Given the description of an element on the screen output the (x, y) to click on. 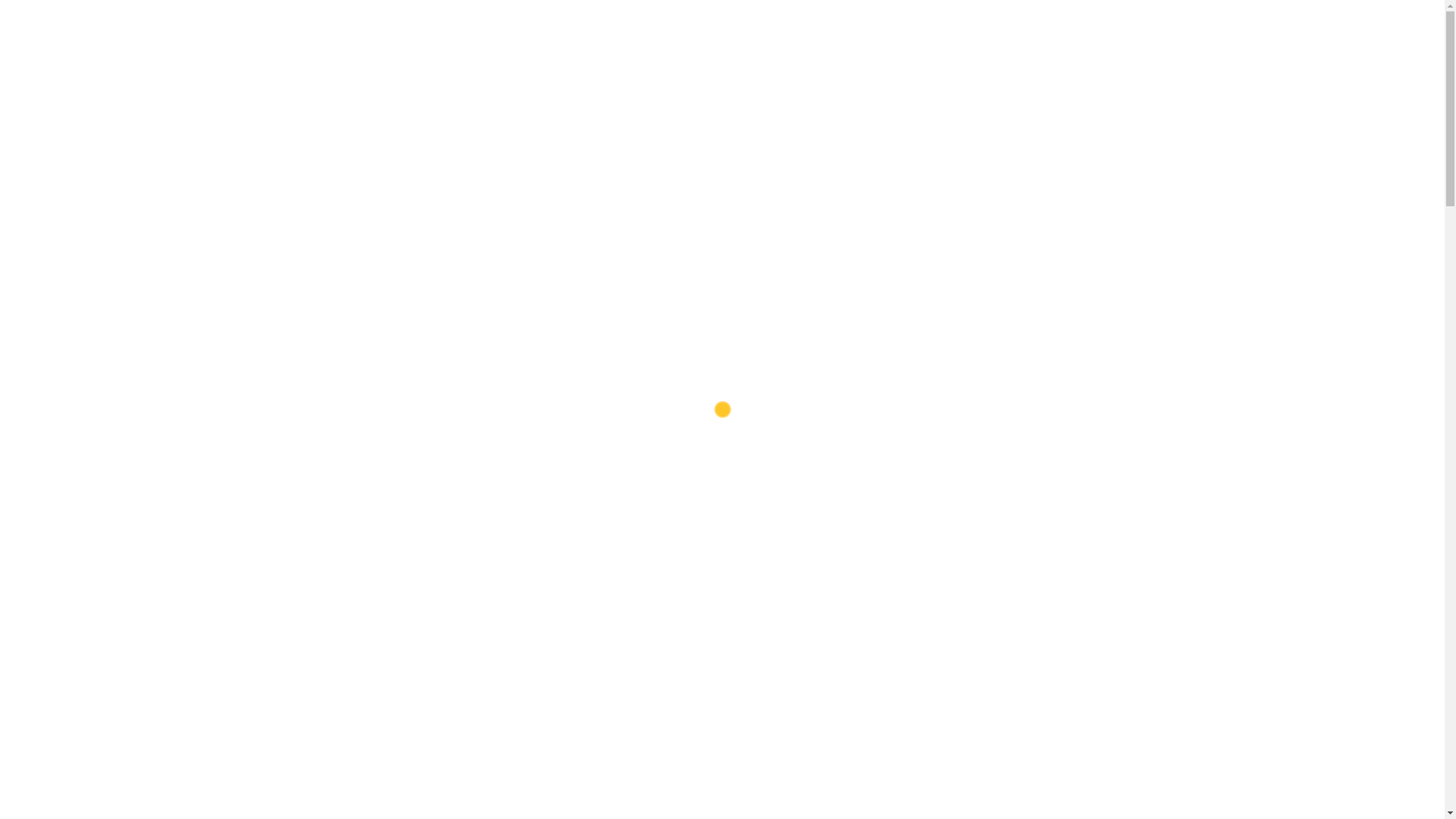
FAQ Element type: text (969, 90)
HOME Element type: text (836, 90)
President 0438 011 644 Element type: text (356, 11)
Australian Ophthalmic Nurses Association Inc. Element type: text (353, 270)
ABOUT US Element type: text (905, 90)
CONTACT US Element type: text (1160, 90)
info@aonawa.org.au Element type: text (536, 28)
AONA WA End of year meeting & AGM Element type: text (1065, 496)
AONA WA Twilight & Tea Element type: text (684, 616)
NEWS Element type: text (1090, 90)
AONA WA Twilight & Tea Element type: text (1043, 679)
EVENTS Element type: text (1027, 90)
SIGN IN Element type: text (1170, 20)
The Lookout @ Tompkins Club Element type: text (1055, 552)
